Given the description of an element on the screen output the (x, y) to click on. 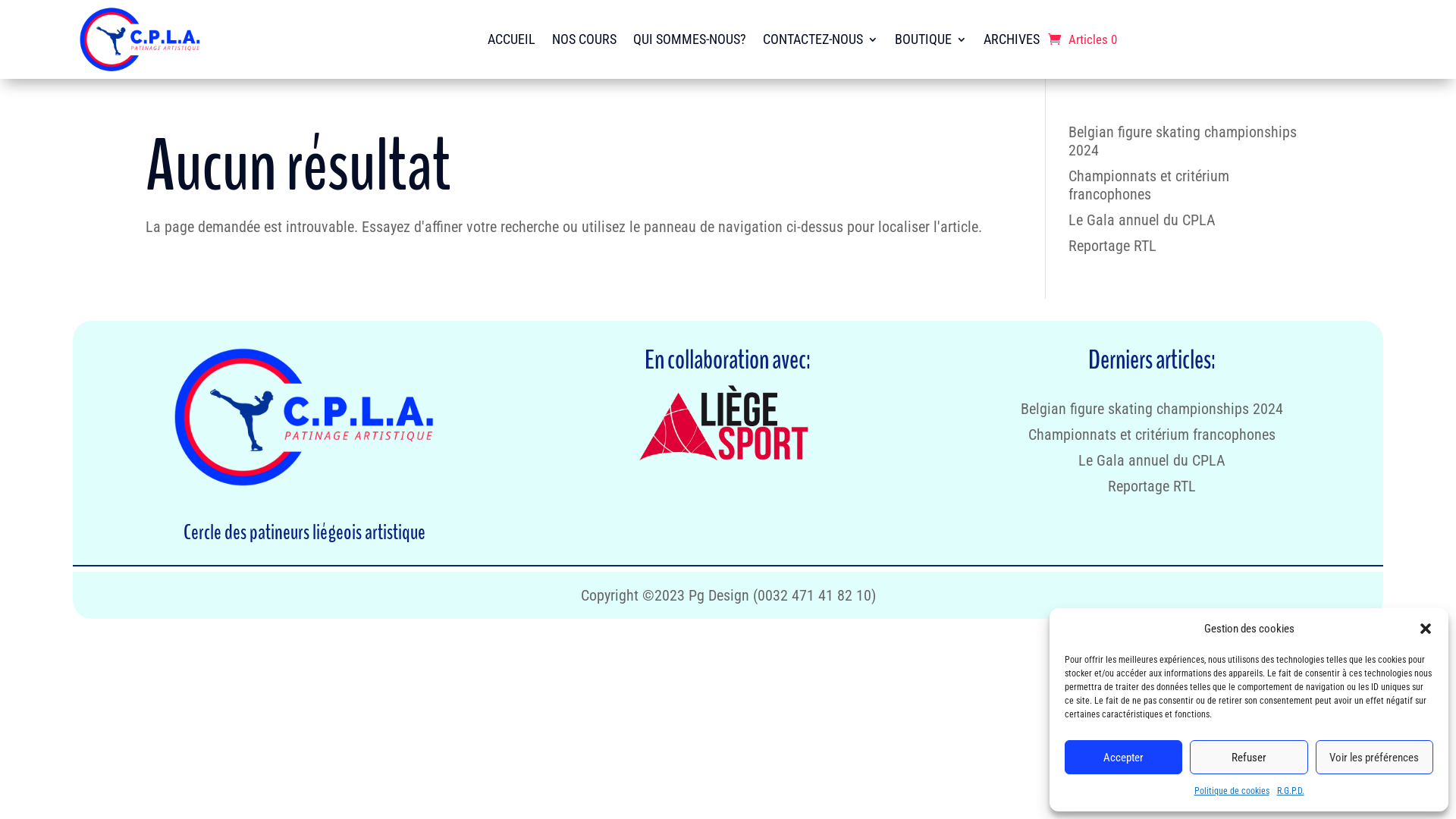
Accepter Element type: text (1123, 757)
NOS COURS Element type: text (584, 39)
Le Gala annuel du CPLA Element type: text (1141, 219)
Reportage RTL Element type: text (1151, 485)
ACCUEIL Element type: text (511, 39)
Articles 0 Element type: text (1082, 39)
ARCHIVES Element type: text (1011, 39)
QUI SOMMES-NOUS? Element type: text (689, 39)
Politique de cookies Element type: text (1230, 790)
CONTACTEZ-NOUS Element type: text (820, 39)
Refuser Element type: text (1248, 757)
Le Gala annuel du CPLA Element type: text (1151, 460)
BOUTIQUE Element type: text (930, 39)
Belgian figure skating championships 2024 Element type: text (1182, 140)
R.G.P.D. Element type: text (1290, 790)
Belgian figure skating championships 2024 Element type: text (1151, 408)
liege_sport_logo-1 Element type: hover (727, 424)
Reportage RTL Element type: text (1112, 245)
